Given the description of an element on the screen output the (x, y) to click on. 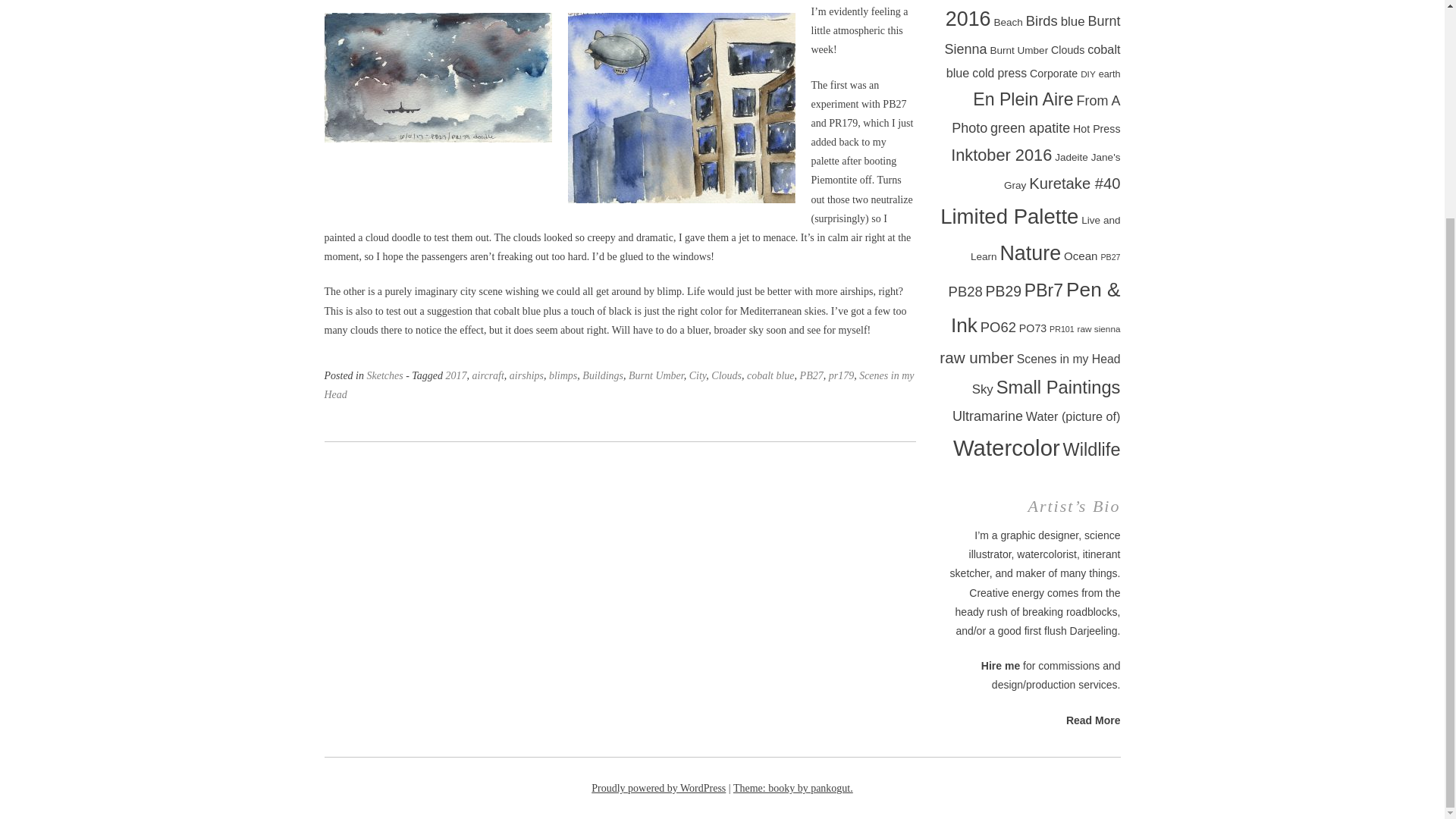
City (697, 375)
Scenes in my Head (619, 385)
blimps (562, 375)
Clouds (726, 375)
pr179 (840, 375)
cobalt blue (770, 375)
airships (526, 375)
Sketches (384, 375)
PB27 (811, 375)
Burnt Umber (656, 375)
2016 (967, 18)
2017 (456, 375)
Buildings (602, 375)
aircraft (487, 375)
